Given the description of an element on the screen output the (x, y) to click on. 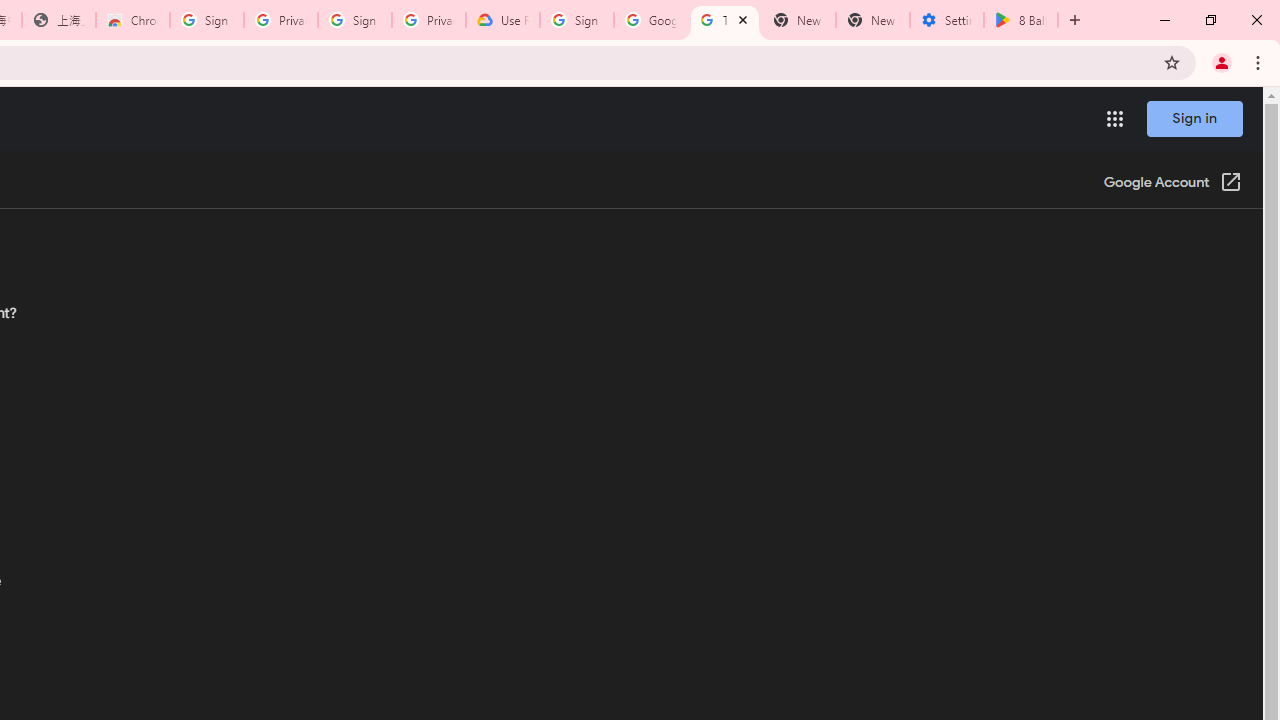
Sign in - Google Accounts (354, 20)
Google Account (Open in a new window) (1172, 183)
